Given the description of an element on the screen output the (x, y) to click on. 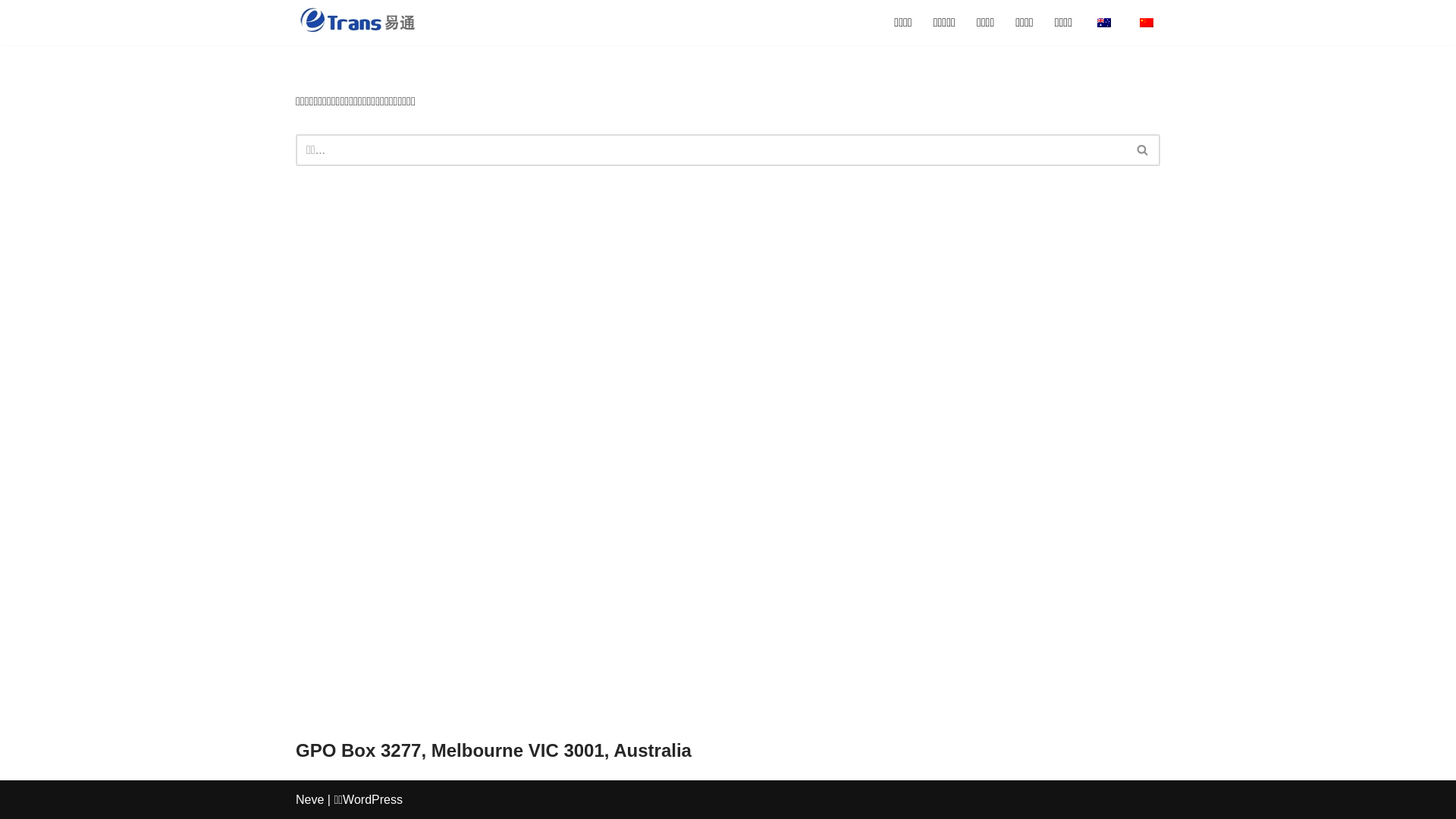
English (Australia) Element type: hover (1103, 22)
WordPress Element type: text (372, 799)
Neve Element type: text (309, 799)
